Given the description of an element on the screen output the (x, y) to click on. 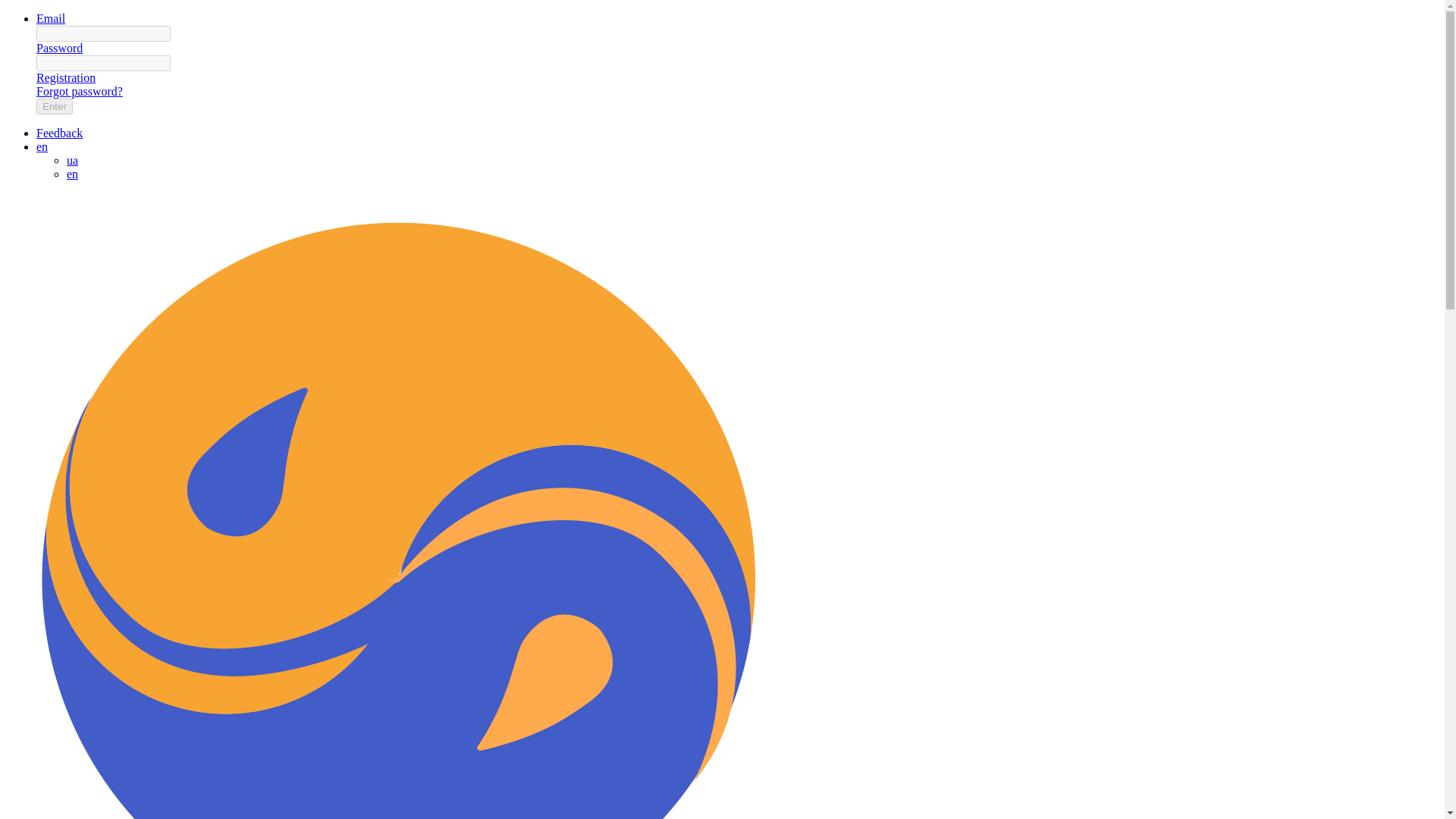
Enter (54, 106)
Forgot password? (79, 91)
Feedback (59, 132)
Registration (66, 77)
